Given the description of an element on the screen output the (x, y) to click on. 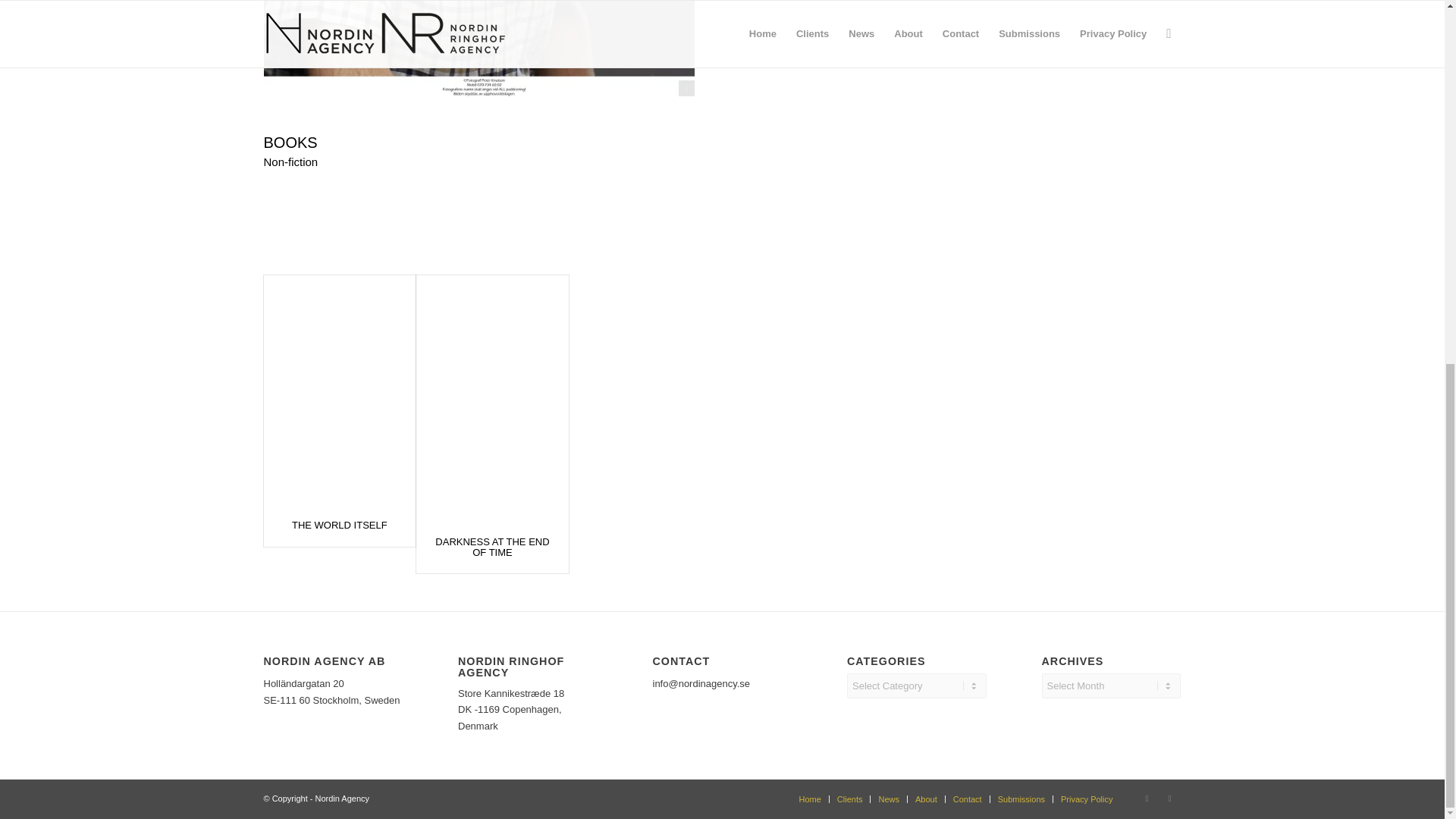
Facebook (1169, 798)
Home (810, 798)
DARKNESS AT THE END OF TIME (491, 546)
Instagram (1146, 798)
THE WORLD ITSELF (339, 524)
Contact (967, 798)
DARKNESS AT THE END OF TIME (491, 546)
News (888, 798)
About (926, 798)
Submissions (1021, 798)
